Given the description of an element on the screen output the (x, y) to click on. 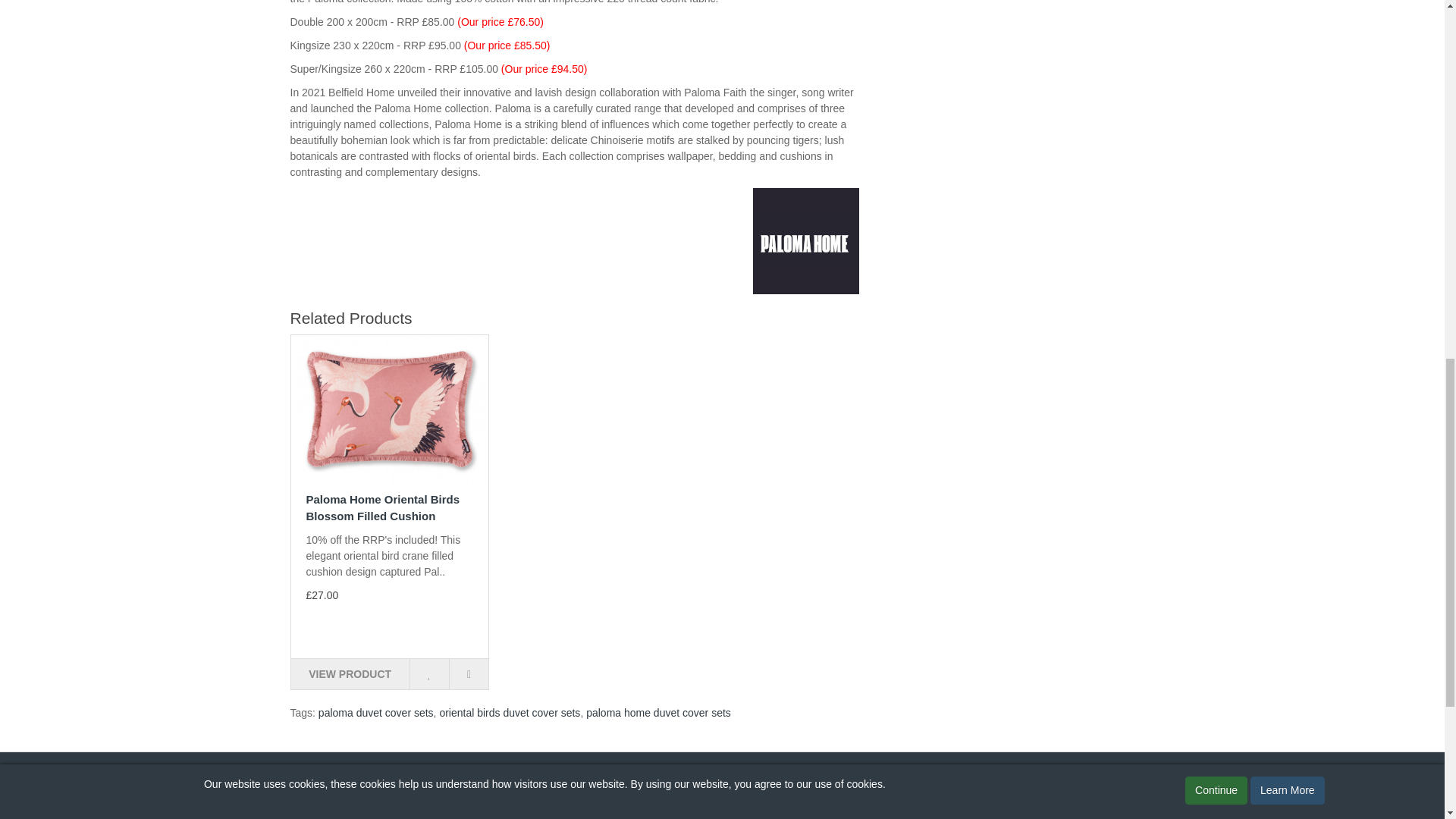
Paloma Home Oriental Birds Blossom Filled Cushion (390, 408)
